Given the description of an element on the screen output the (x, y) to click on. 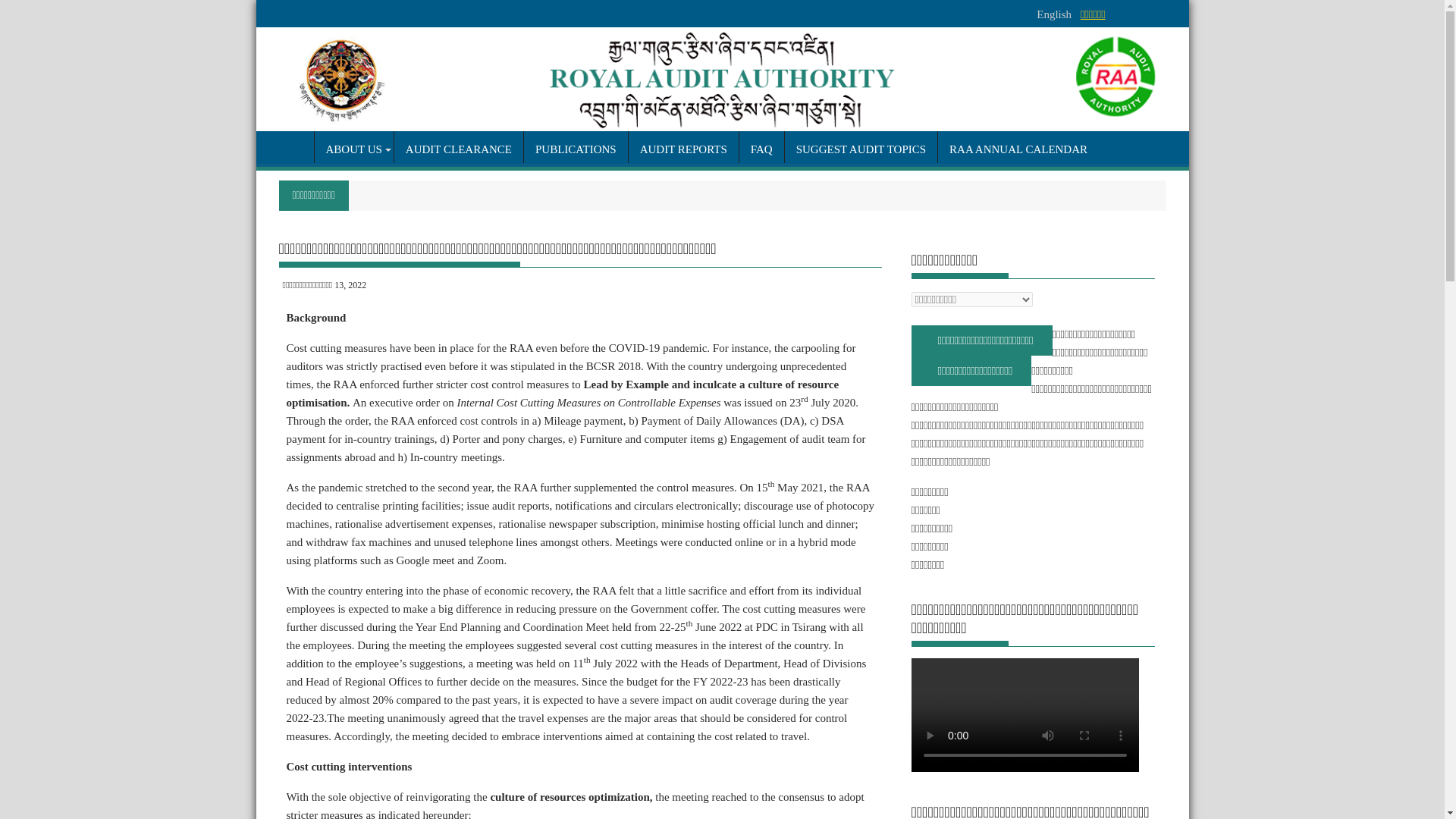
ABOUT US (353, 148)
FAQ (761, 148)
SUGGEST AUDIT TOPICS (860, 148)
RAA ANNUAL CALENDAR (1018, 148)
AUDIT CLEARANCE (458, 148)
PUBLICATIONS (575, 148)
English (1053, 14)
AUDIT REPORTS (683, 148)
